Given the description of an element on the screen output the (x, y) to click on. 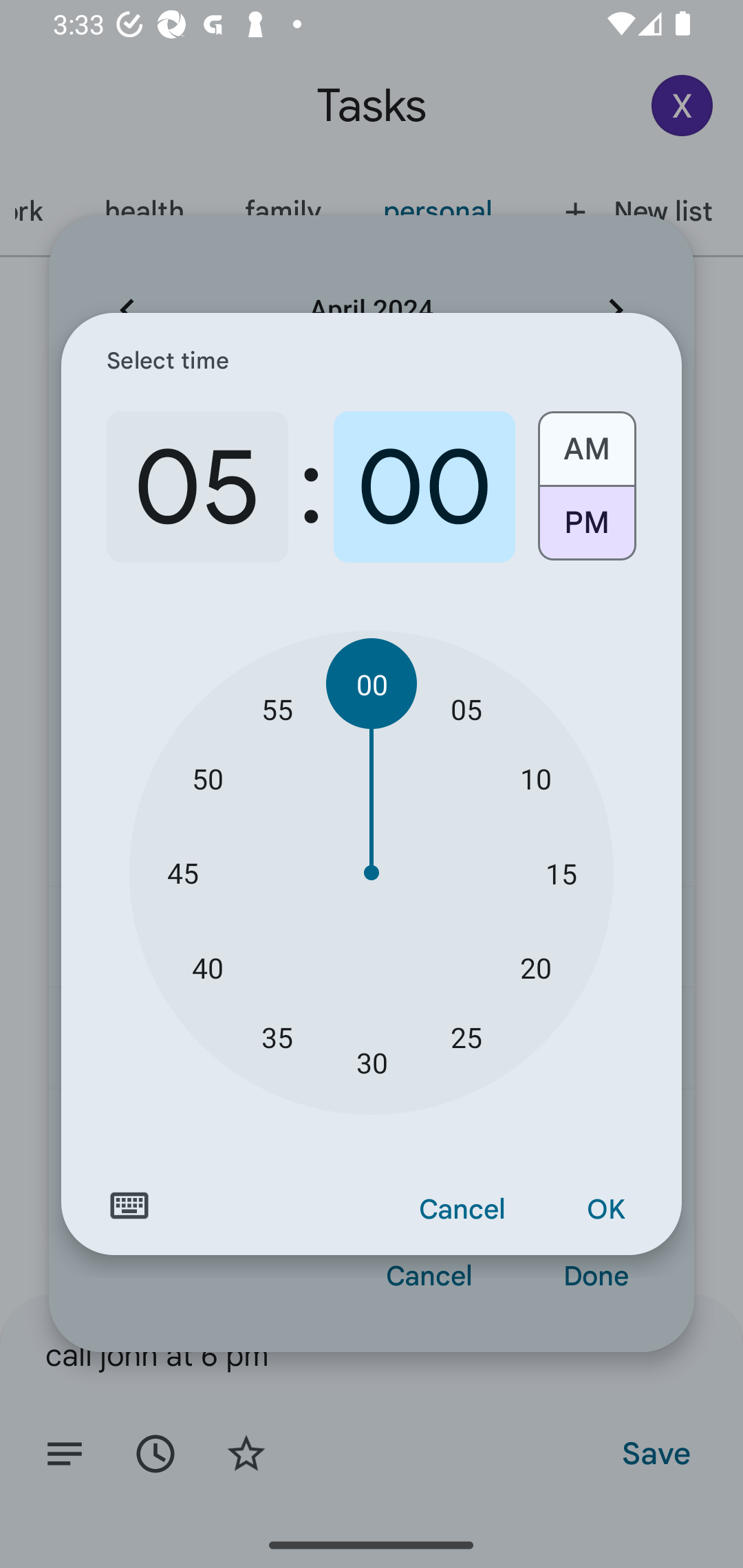
AM (586, 441)
05 5 o'clock (197, 486)
00 0 minutes (424, 486)
PM (586, 529)
00 00 minutes (371, 683)
55 55 minutes (276, 708)
05 05 minutes (466, 708)
50 50 minutes (207, 778)
10 10 minutes (535, 778)
45 45 minutes (182, 872)
15 15 minutes (561, 872)
40 40 minutes (207, 966)
20 20 minutes (535, 966)
35 35 minutes (276, 1035)
25 25 minutes (466, 1035)
30 30 minutes (371, 1062)
Switch to text input mode for the time input. (128, 1205)
Cancel (462, 1209)
OK (605, 1209)
